Given the description of an element on the screen output the (x, y) to click on. 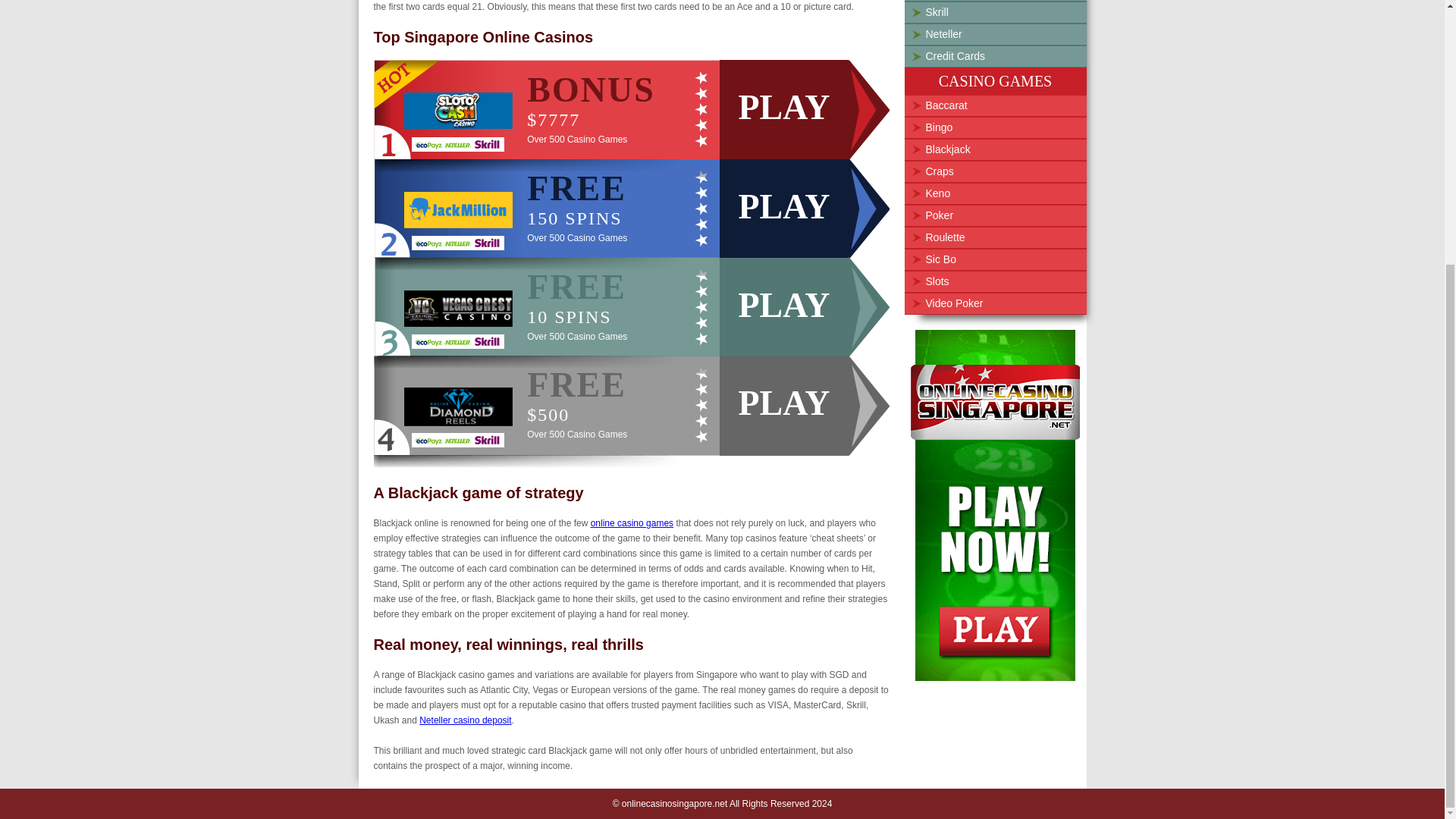
online casino games (631, 522)
Roulette (943, 236)
Craps (938, 171)
Sic Bo (939, 259)
Credit Cards (954, 55)
Blackjack (946, 149)
Poker (938, 215)
Bingo (938, 127)
Video Poker (642, 207)
